Given the description of an element on the screen output the (x, y) to click on. 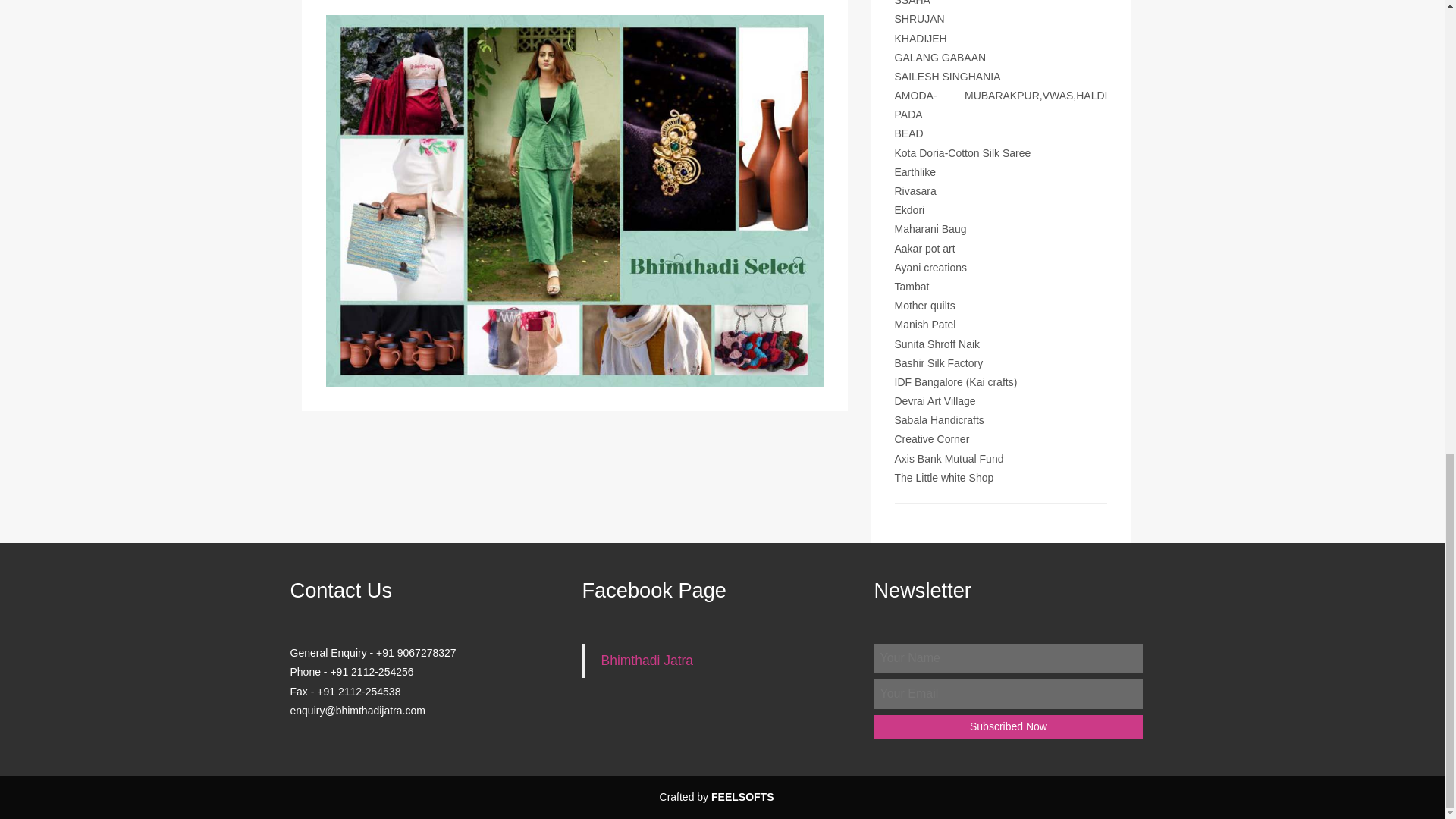
FEELSOFTS (742, 797)
Subscribed Now (1007, 726)
Subscribed Now (1007, 726)
Bhimthadi Jatra (646, 660)
